Given the description of an element on the screen output the (x, y) to click on. 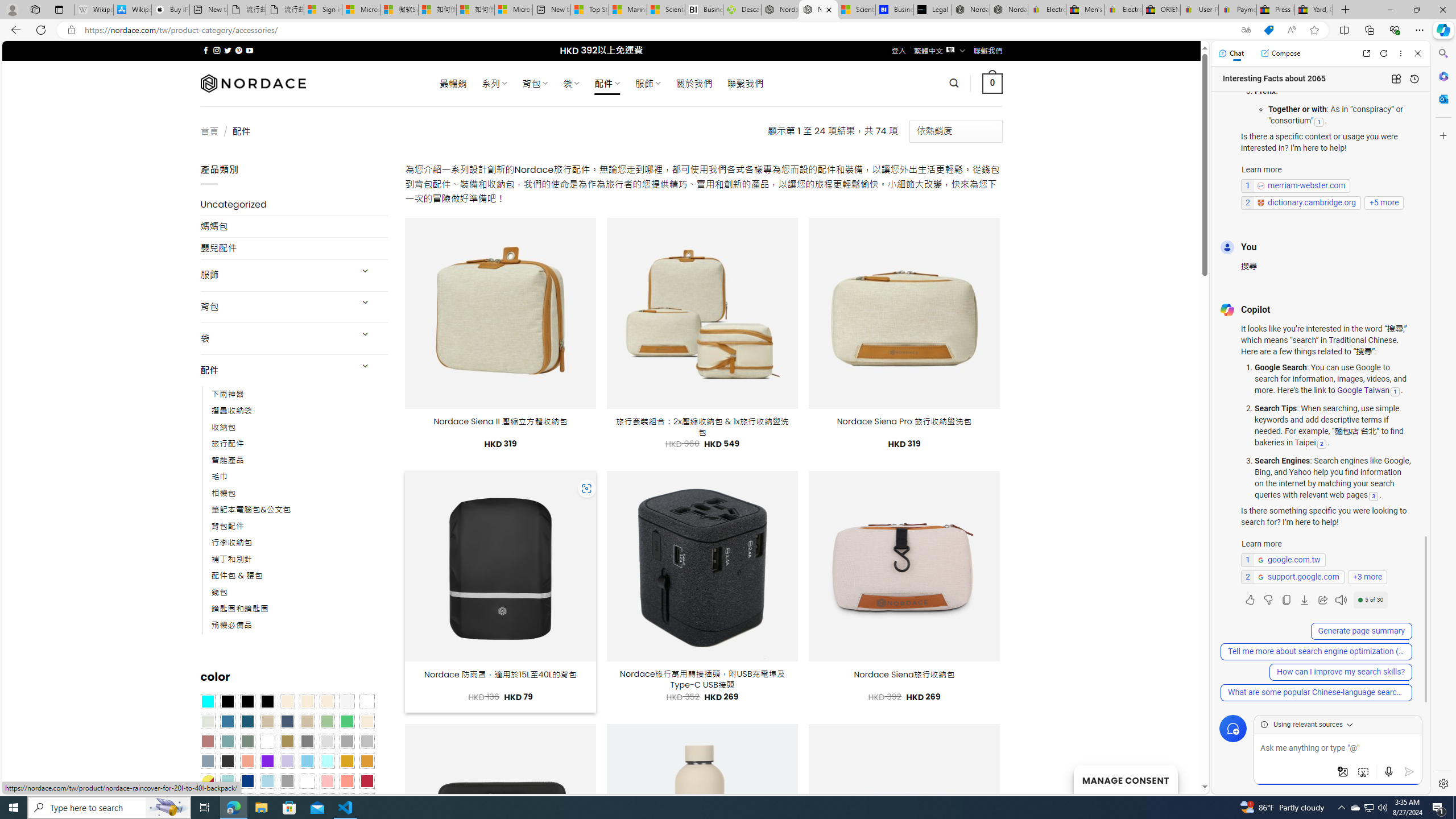
This site has coupons! Shopping in Microsoft Edge (1268, 29)
App bar (728, 29)
Compose (1280, 52)
